Given the description of an element on the screen output the (x, y) to click on. 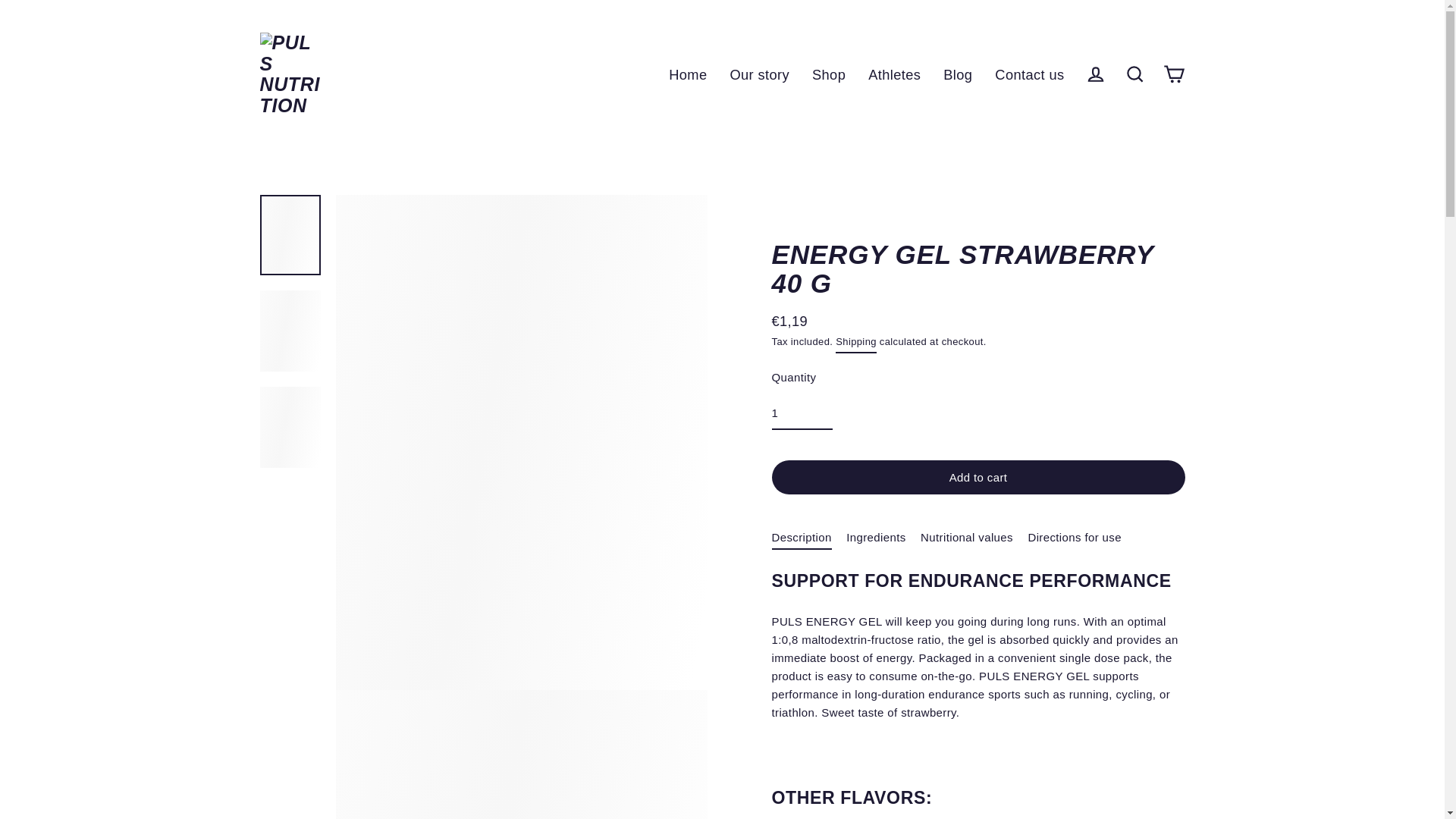
1 (801, 413)
Home (687, 73)
Search (1134, 74)
Athletes (894, 73)
Contact us (1029, 73)
Blog (957, 73)
Shop (828, 73)
Our story (758, 73)
Cart (1173, 74)
Log in (1095, 74)
